Given the description of an element on the screen output the (x, y) to click on. 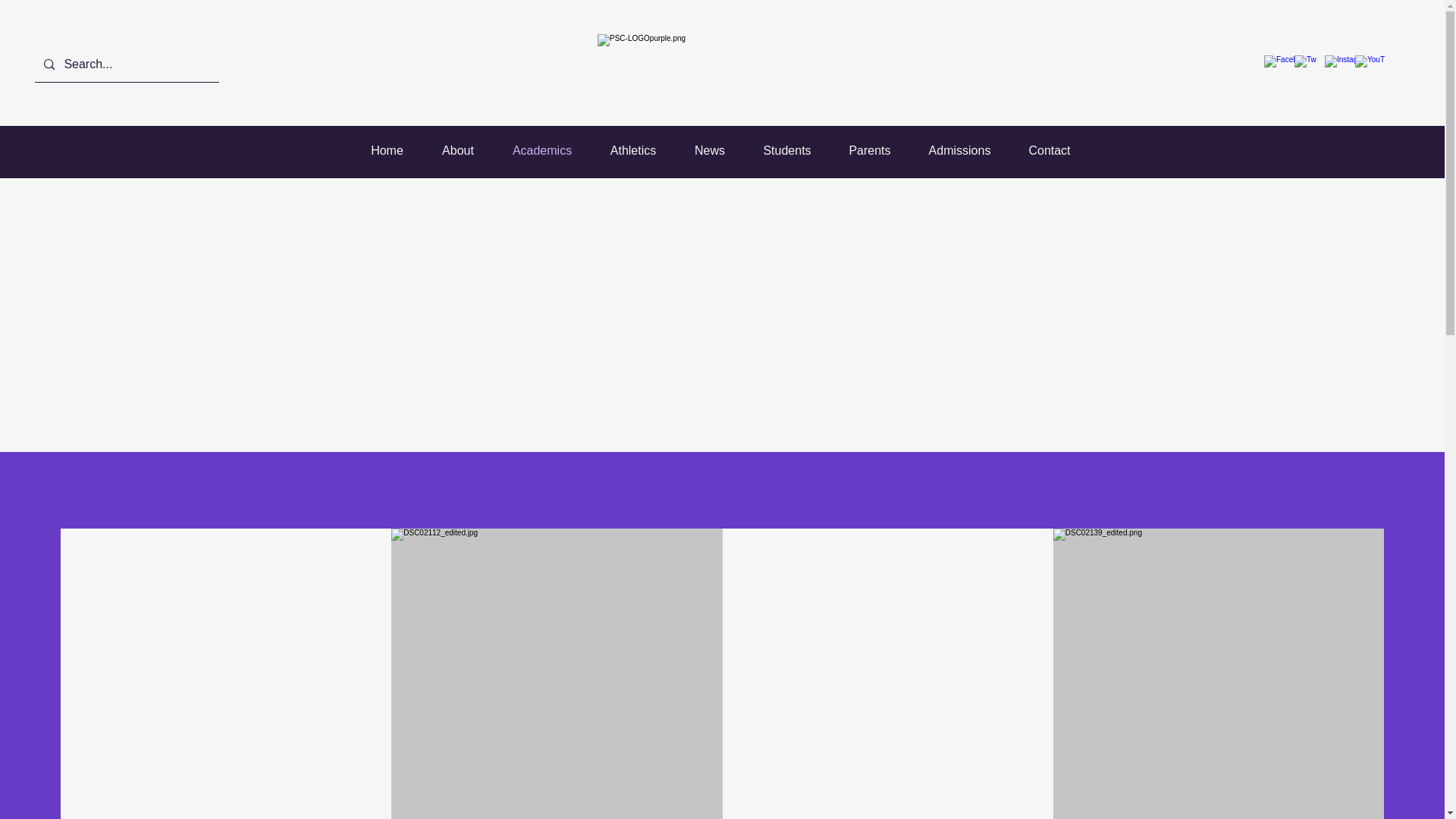
Athletics (633, 149)
Students (786, 149)
About (458, 149)
Admissions (960, 149)
Home (387, 149)
Academics (542, 149)
Contact (1049, 149)
Parents (868, 149)
News (709, 149)
